Given the description of an element on the screen output the (x, y) to click on. 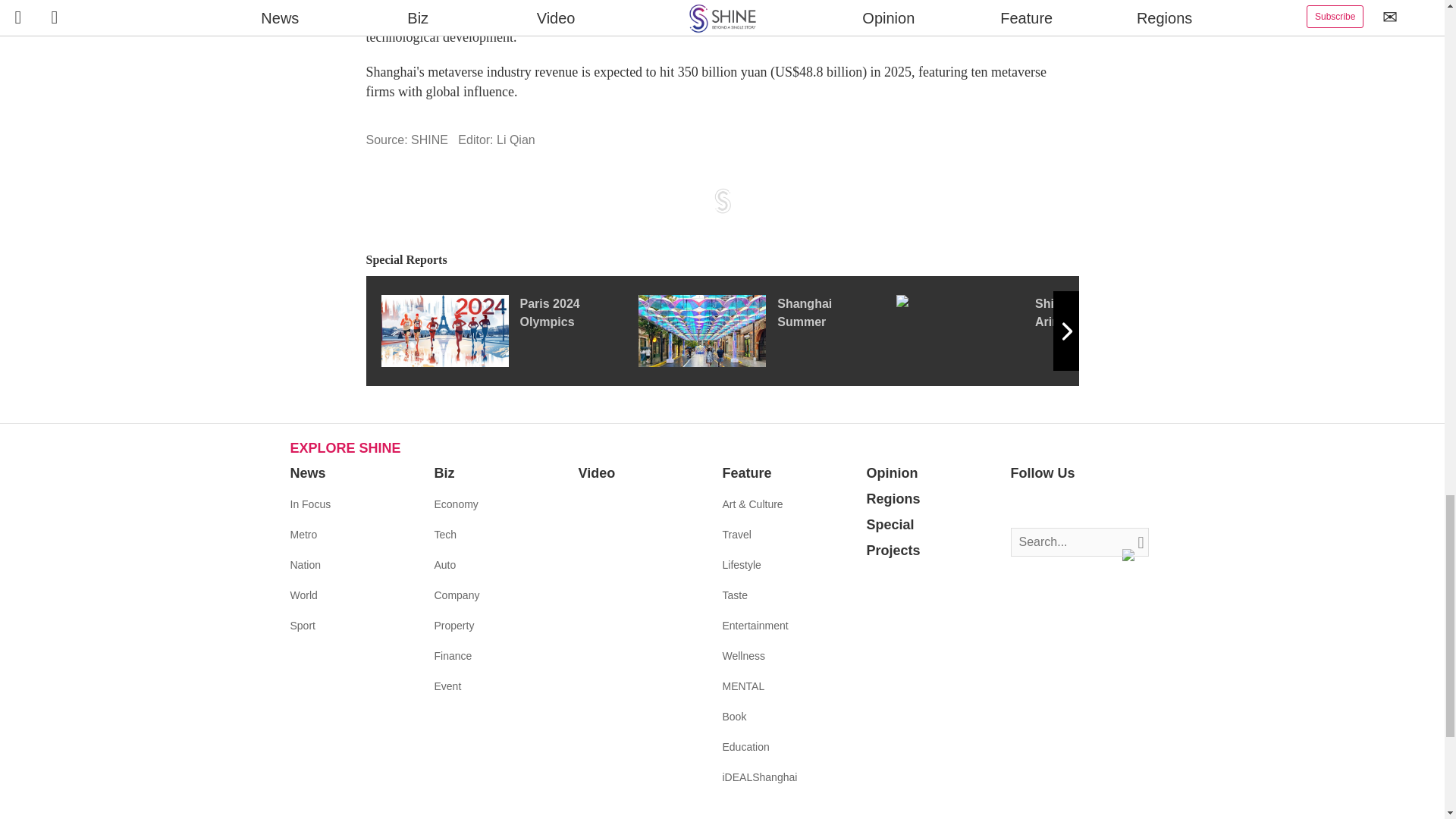
Shine Bright with Arina (1024, 330)
Special Reports (721, 260)
News (306, 473)
Follow us on Youtube (1090, 505)
Shanghai Summer (767, 330)
Metro (303, 534)
Follow us on Facebook (1021, 505)
World (303, 594)
Nation (304, 564)
Paris 2024 Olympics (508, 330)
